Given the description of an element on the screen output the (x, y) to click on. 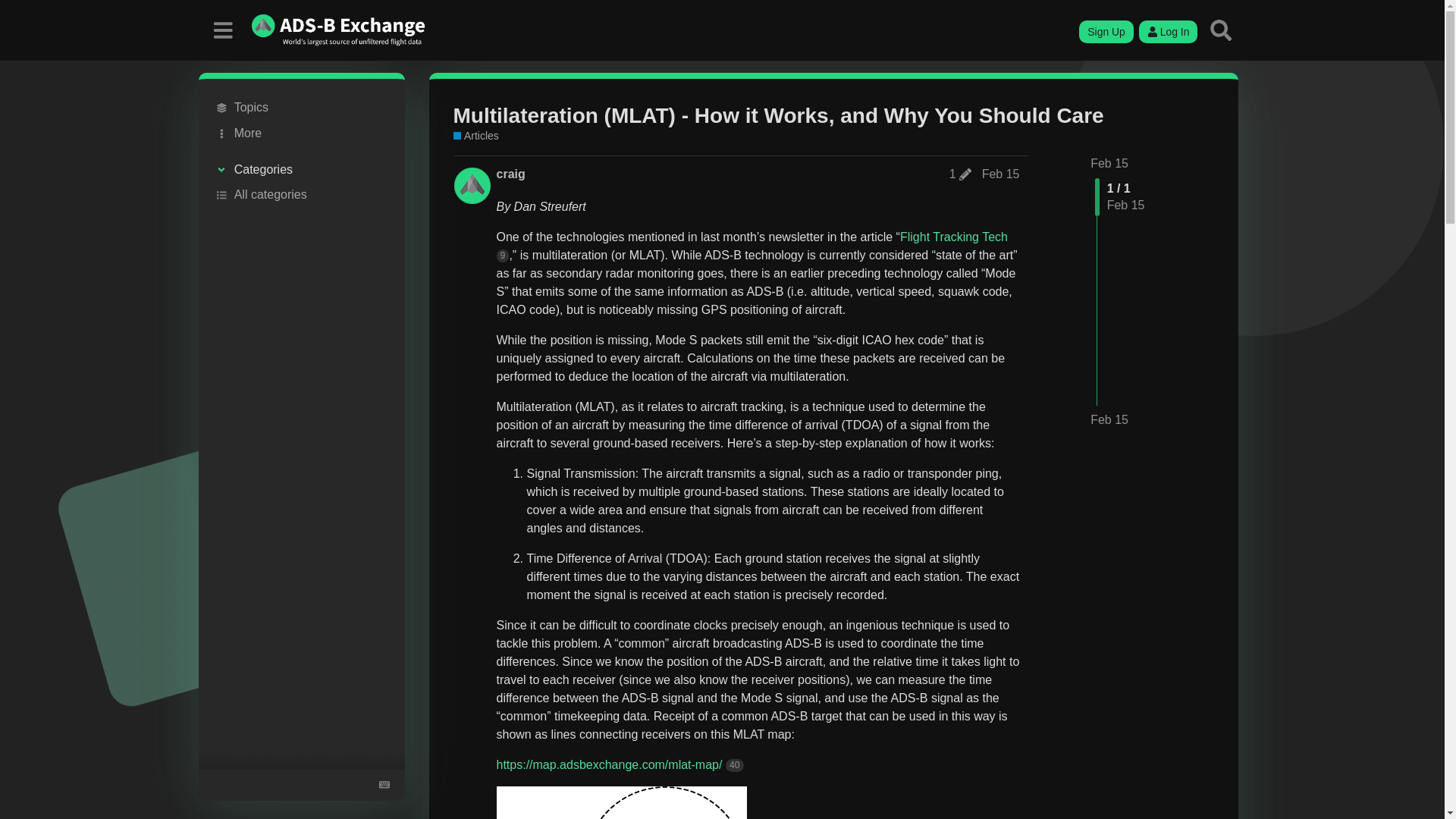
Post date (1000, 173)
Jump to the last post (1109, 419)
Jump to the first post (1109, 163)
Topics (301, 108)
Flight Tracking Tech 9 (751, 245)
9 clicks (502, 255)
Keyboard Shortcuts (384, 784)
Feb 15 (1000, 173)
Articles (475, 135)
Feb 15 (1109, 419)
